Given the description of an element on the screen output the (x, y) to click on. 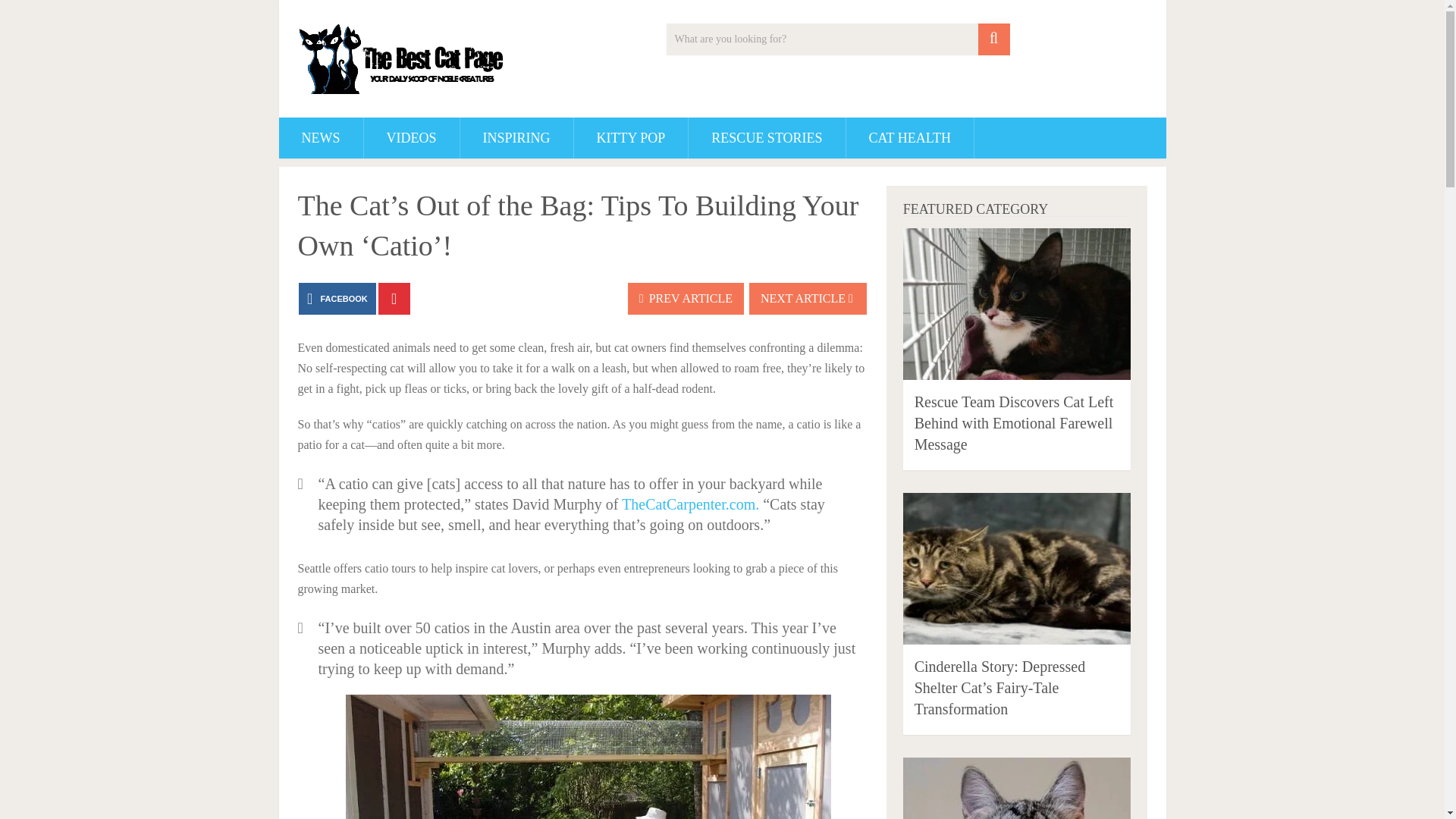
PREV ARTICLE (685, 298)
CAT HEALTH (909, 137)
FACEBOOK (336, 298)
KITTY POP (630, 137)
TheCatCarpenter.com. (689, 504)
INSPIRING (516, 137)
RESCUE STORIES (766, 137)
VIDEOS (412, 137)
NEWS (320, 137)
NEXT ARTICLE (807, 298)
